Given the description of an element on the screen output the (x, y) to click on. 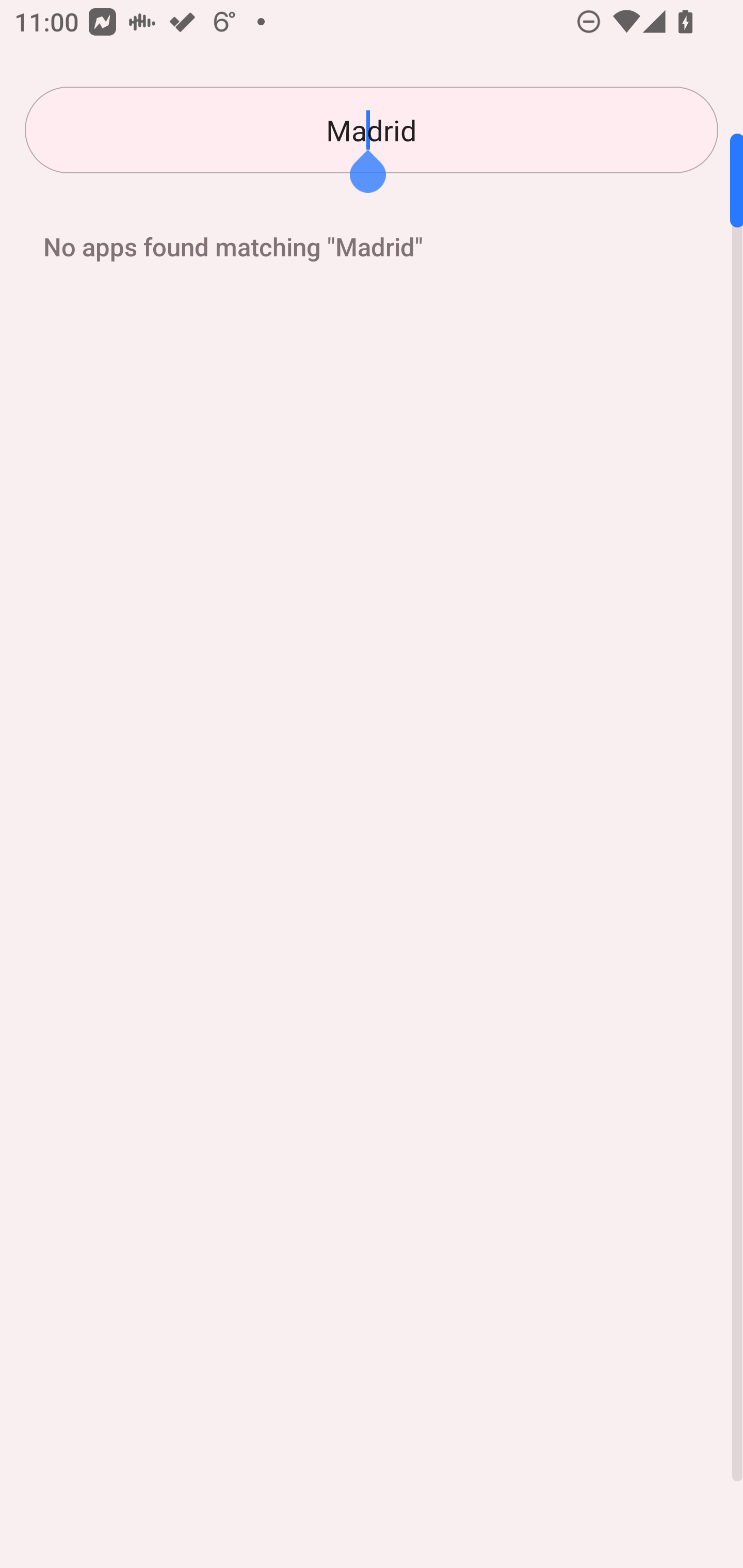
Madrid (371, 130)
